Given the description of an element on the screen output the (x, y) to click on. 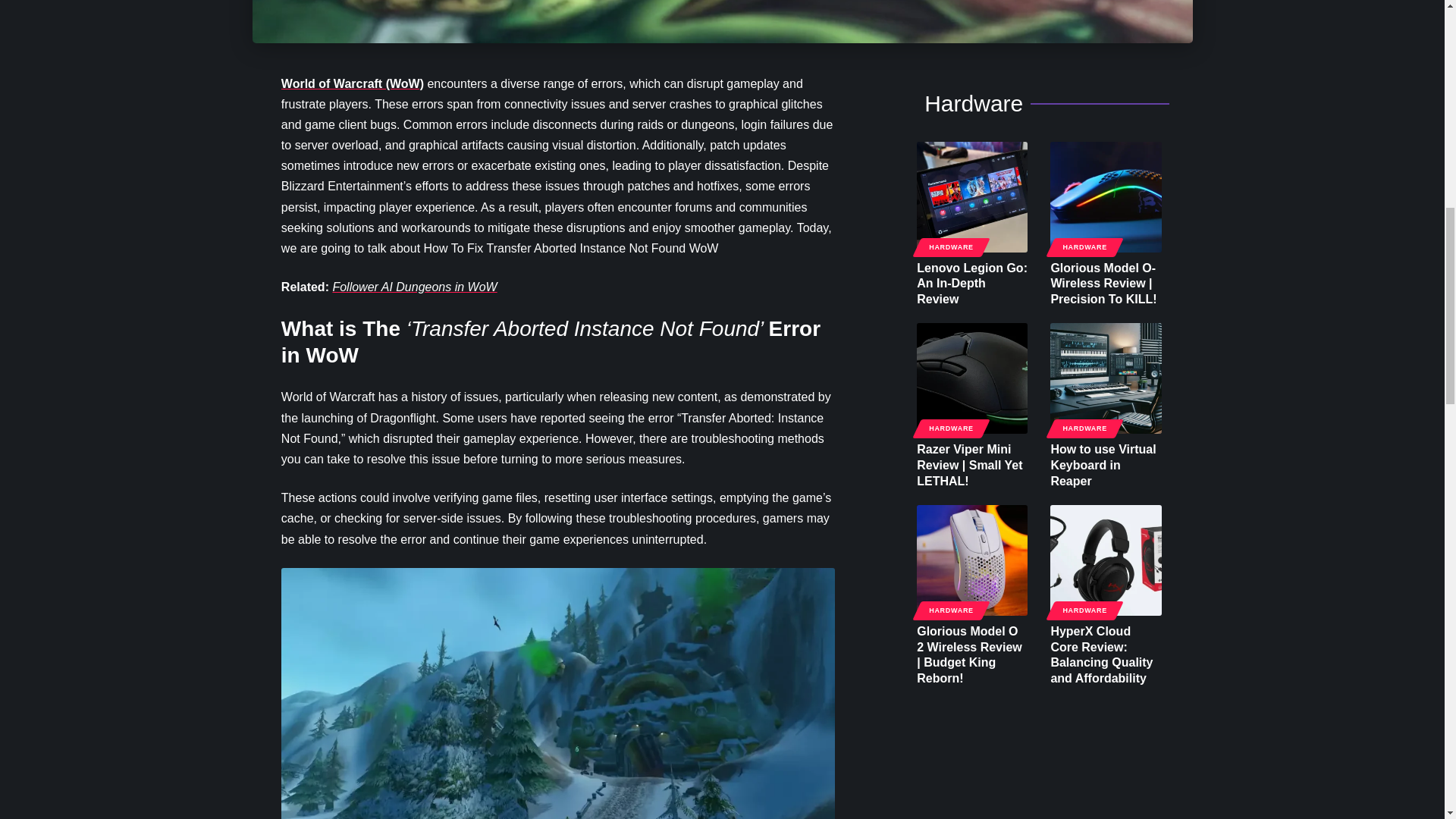
Follower AI Dungeons in WoW (413, 286)
Lenovo Legion Go: An In-Depth Review (972, 195)
How to use Virtual Keyboard in Reaper (1104, 378)
